Given the description of an element on the screen output the (x, y) to click on. 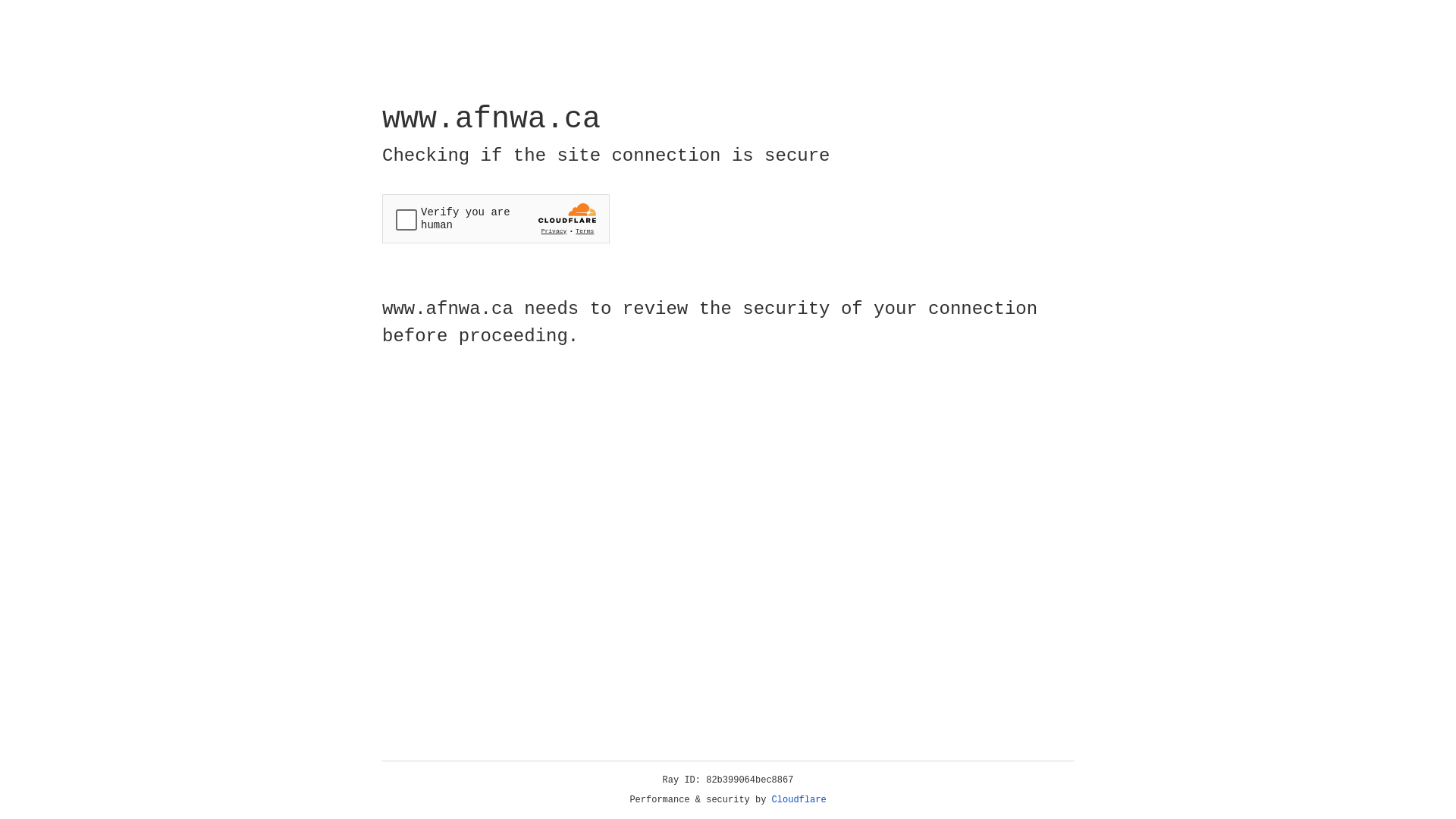
Cloudflare Element type: text (798, 799)
Widget containing a Cloudflare security challenge Element type: hover (495, 218)
